Given the description of an element on the screen output the (x, y) to click on. 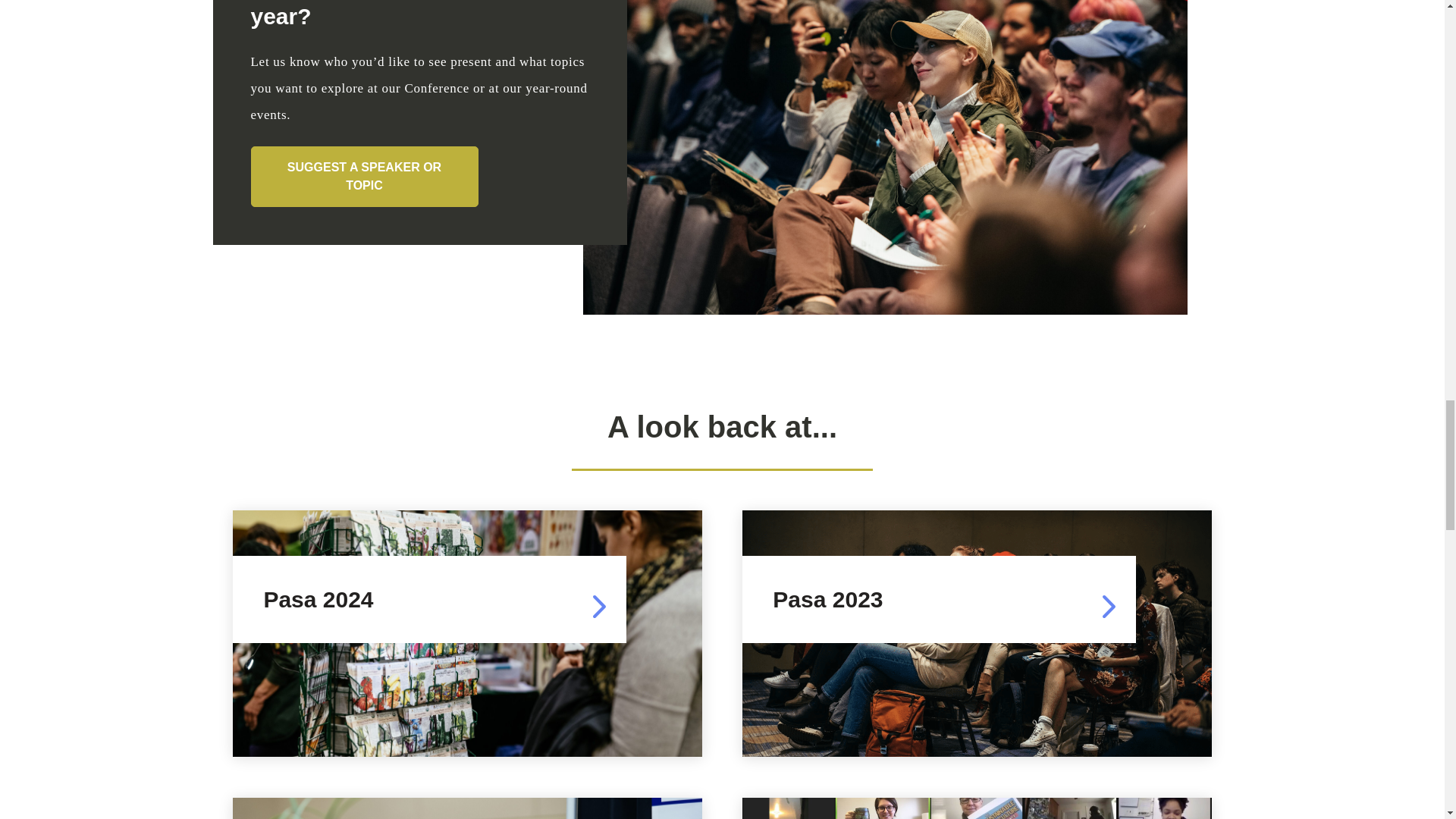
SUGGEST A SPEAKER OR TOPIC (363, 176)
Pasa 2024 (429, 599)
Pasa 2023 (938, 599)
